Given the description of an element on the screen output the (x, y) to click on. 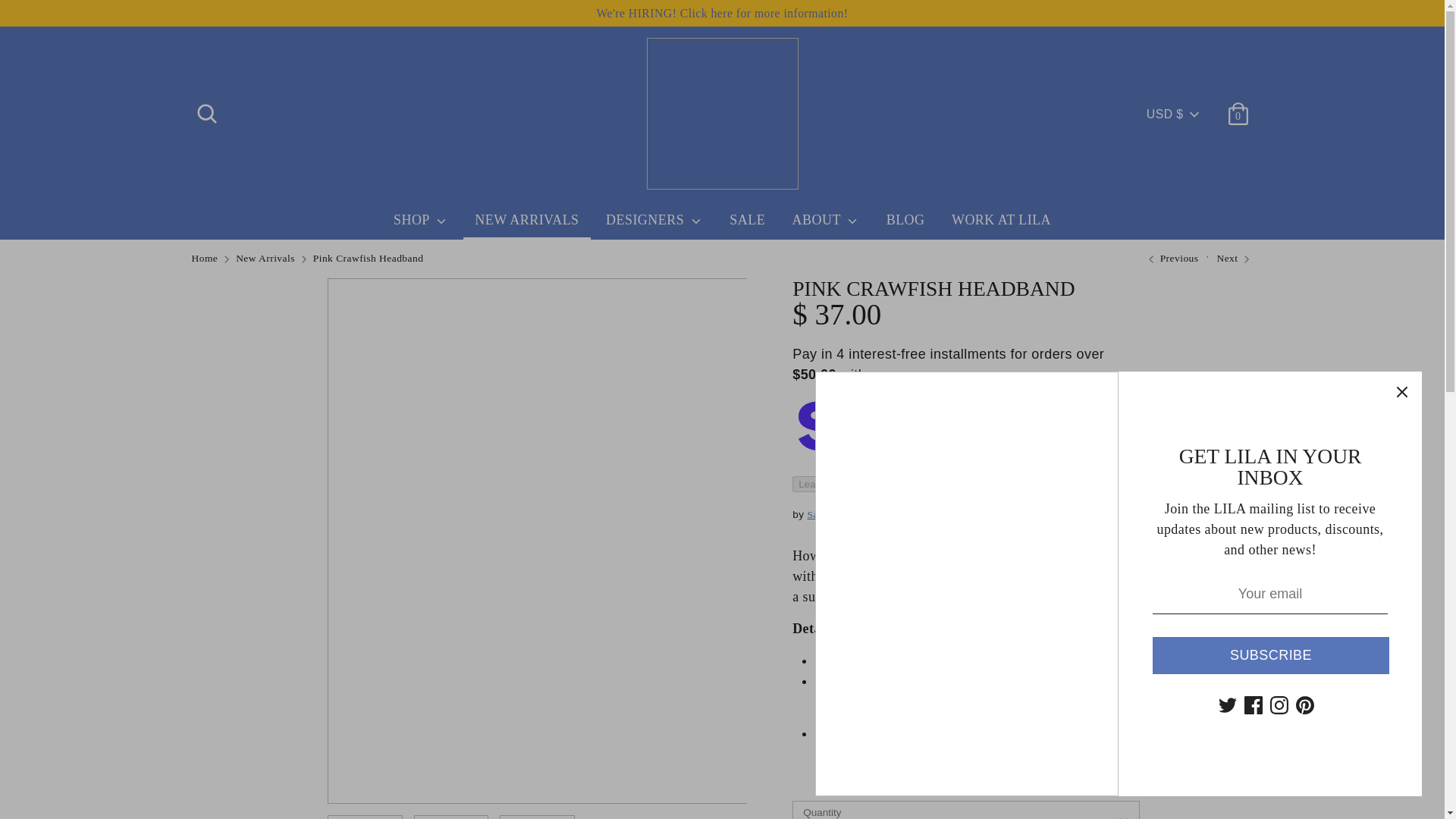
American Express (961, 769)
Search (205, 108)
Gold Metallic Headband (1233, 257)
0 (1237, 108)
Electric Dreams Headband (1171, 257)
1 (965, 810)
Discover (1030, 769)
Diners Club (995, 769)
